Given the description of an element on the screen output the (x, y) to click on. 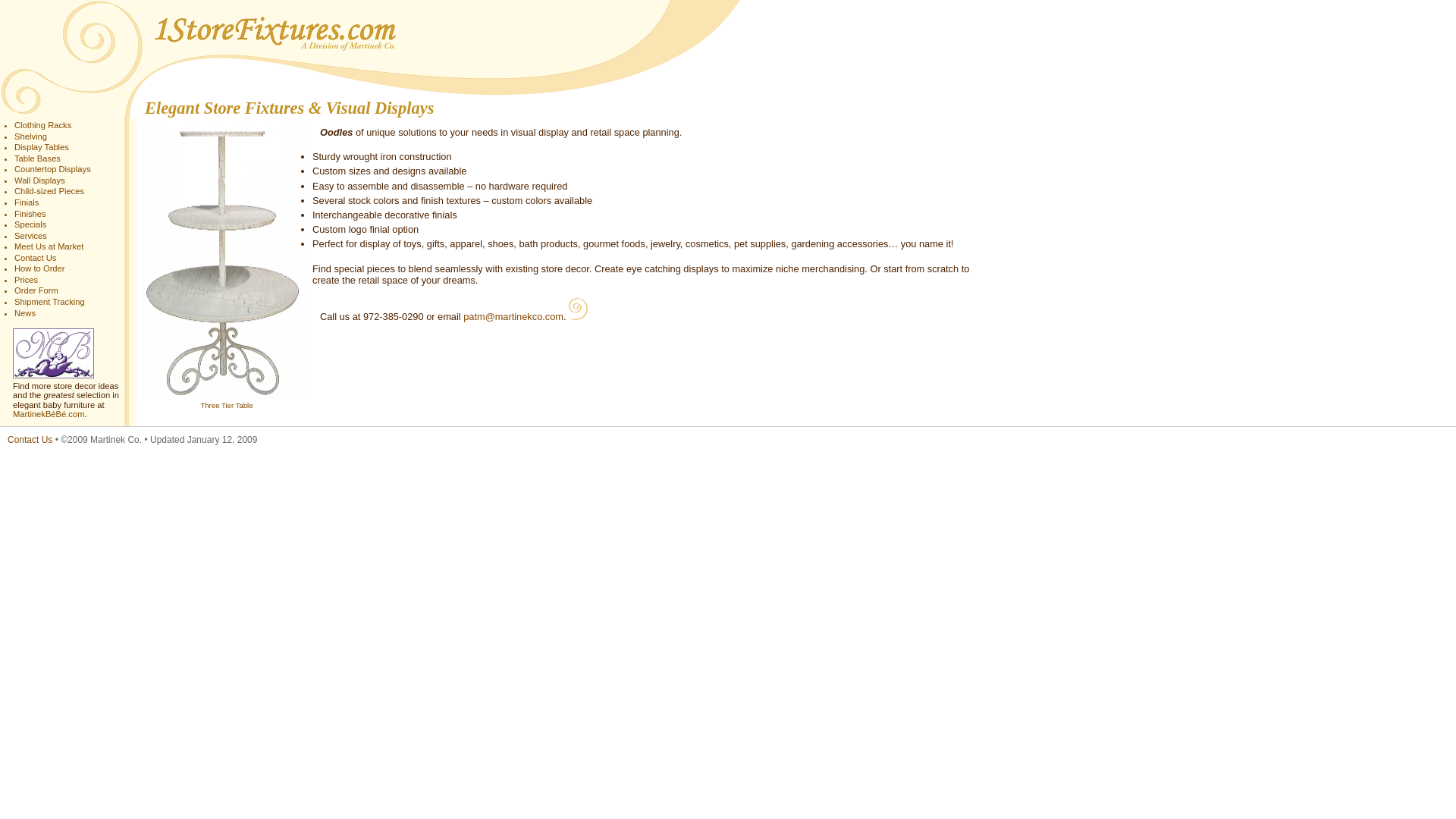
Services Element type: text (30, 235)
Three Tier Table Element type: text (226, 405)
Prices Element type: text (25, 279)
Finials Element type: text (26, 202)
Contact Us Element type: text (29, 439)
Wall Displays Element type: text (39, 180)
Meet Us at Market Element type: text (48, 246)
Specials Element type: text (30, 224)
Child-sized Pieces Element type: text (49, 190)
How to Order Element type: text (39, 268)
Clothing Racks Element type: text (42, 124)
patm@martinekco.com Element type: text (513, 316)
News Element type: text (24, 312)
Order Form Element type: text (36, 289)
Display Tables Element type: text (41, 146)
Finishes Element type: text (30, 213)
Countertop Displays Element type: text (52, 168)
Shelving Element type: text (30, 136)
Table Bases Element type: text (37, 158)
Contact Us Element type: text (35, 257)
Shipment Tracking Element type: text (49, 301)
